Given the description of an element on the screen output the (x, y) to click on. 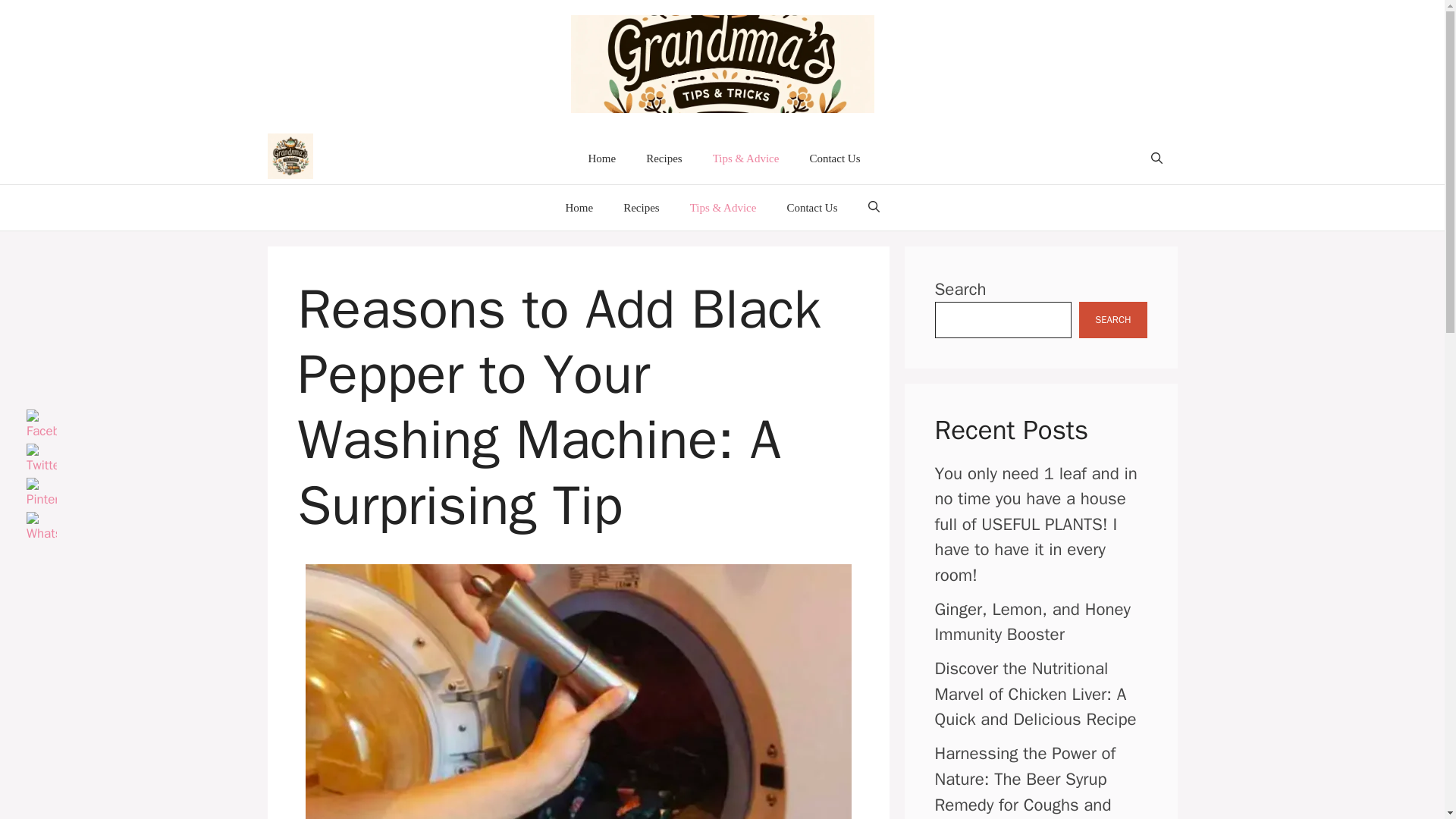
Contact Us (834, 157)
Contact Us (811, 207)
Recipes (641, 207)
Facebook (41, 425)
tips and tricks (289, 158)
SEARCH (1112, 320)
Home (601, 157)
Home (579, 207)
Twitter (41, 459)
Recipes (663, 157)
WhatsApp (41, 527)
Ginger, Lemon, and Honey Immunity Booster (1032, 622)
